Given the description of an element on the screen output the (x, y) to click on. 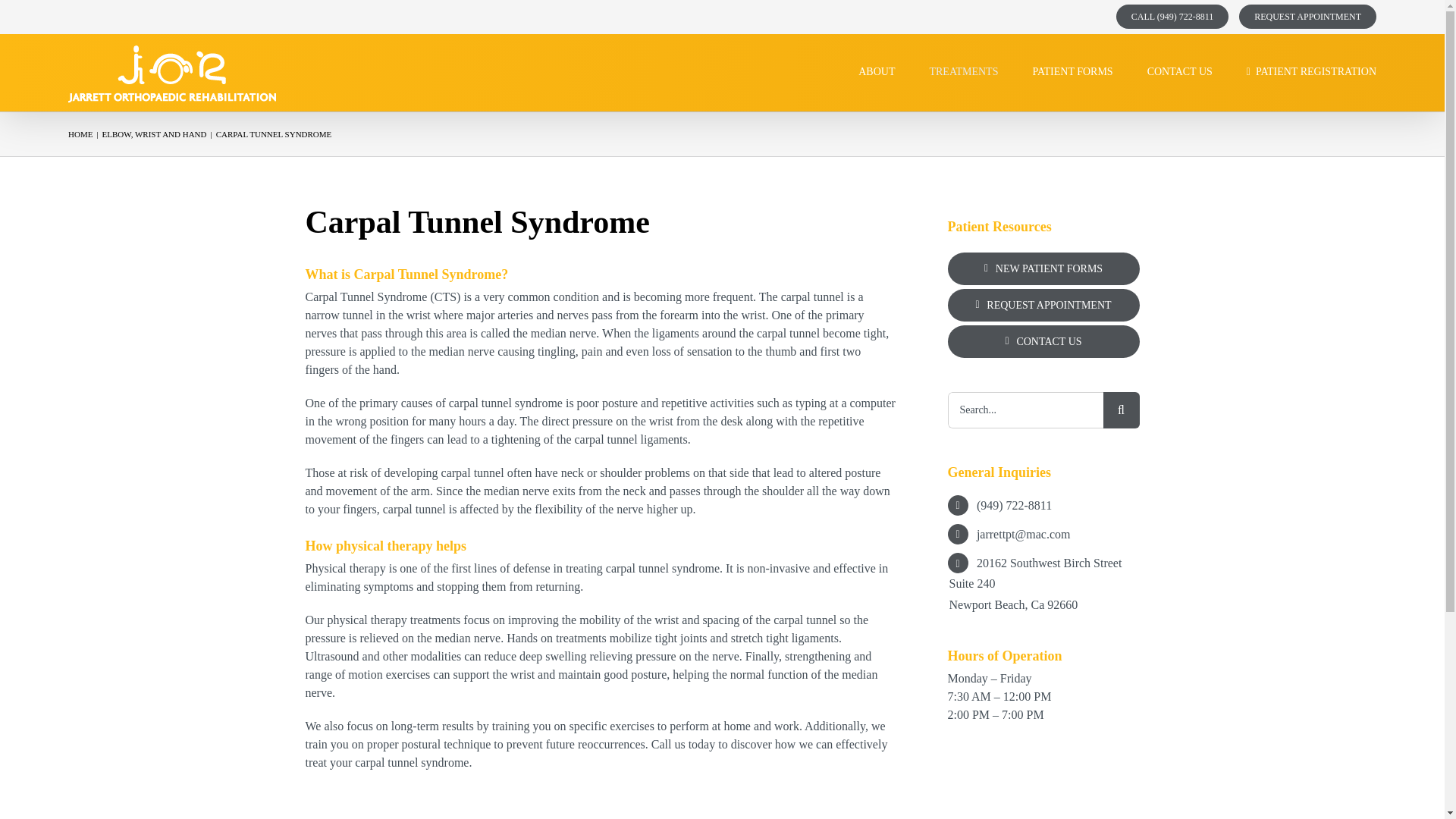
REQUEST APPOINTMENT (1301, 16)
TREATMENTS (962, 71)
ABOUT (877, 71)
